Given the description of an element on the screen output the (x, y) to click on. 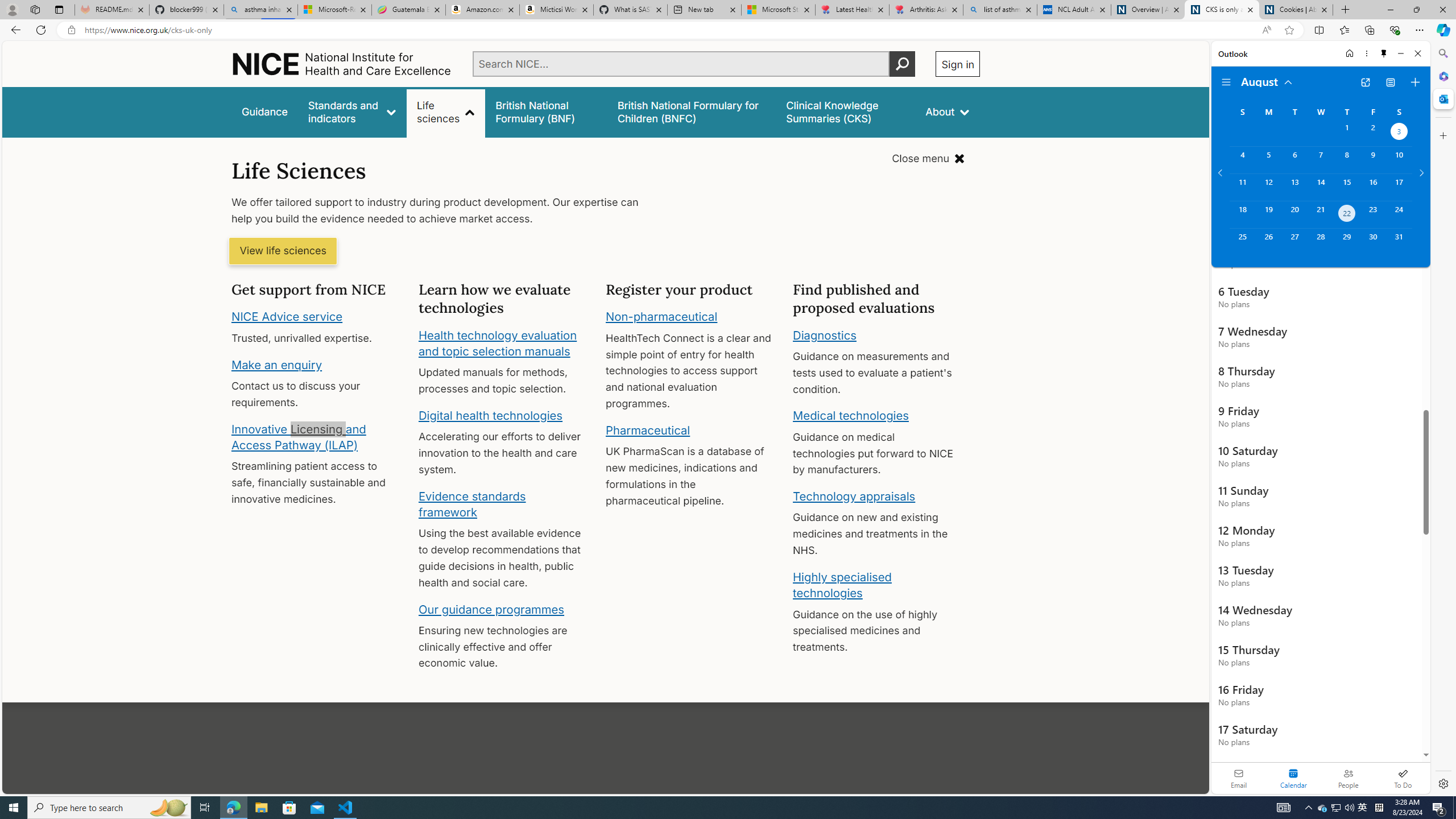
Tuesday, August 27, 2024.  (1294, 241)
Wednesday, August 21, 2024.  (1320, 214)
Thursday, August 1, 2024.  (1346, 132)
Home (1348, 53)
Sign in (957, 63)
Pharmaceutical (647, 429)
Sunday, August 18, 2024.  (1242, 214)
Email (1238, 777)
August (1267, 80)
View Switcher. Current view is Agenda view (1390, 82)
